Given the description of an element on the screen output the (x, y) to click on. 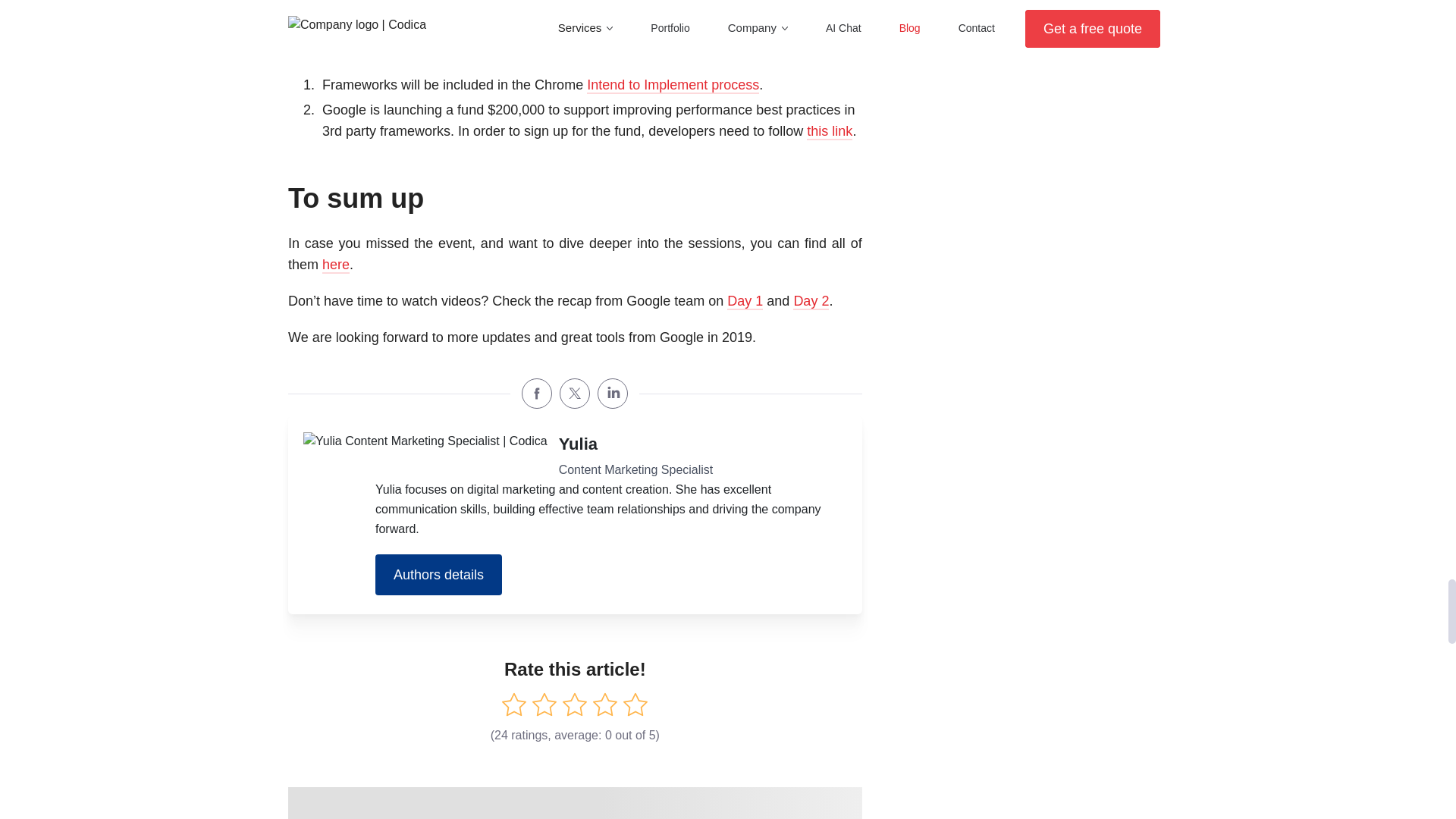
Yulia Content Marketing Specialist (424, 441)
Rate this article (544, 704)
Rate this article (574, 704)
Rate this article (604, 704)
Rate this article (513, 704)
Rate this article (635, 704)
